Given the description of an element on the screen output the (x, y) to click on. 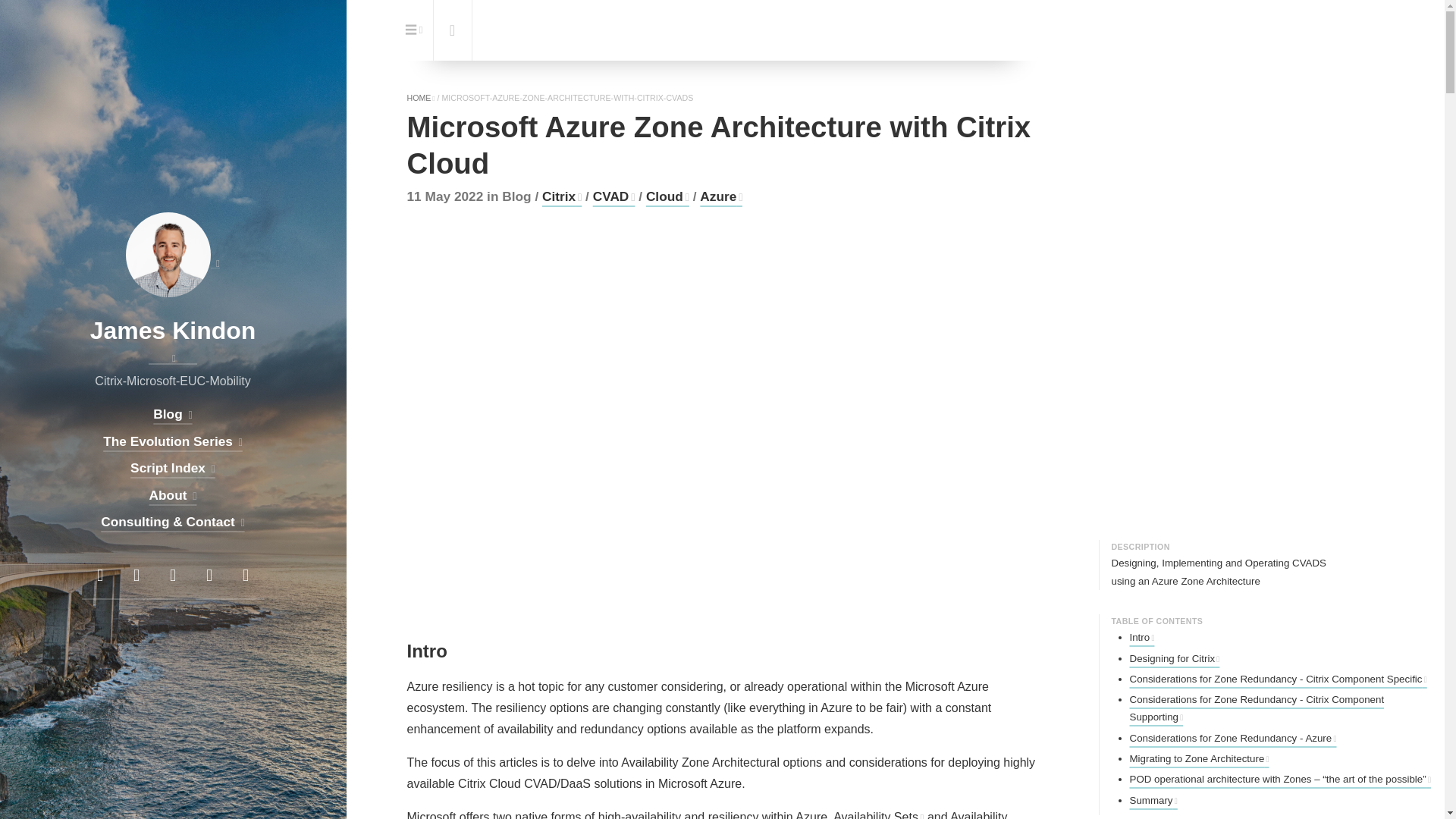
Availability Zones (706, 814)
Availability Sets (877, 814)
Summary (1153, 799)
CVAD (613, 196)
Intro (1141, 636)
Citrix (560, 196)
Azure (721, 196)
Considerations for Zone Redundancy - Azure (1232, 737)
HOME (419, 97)
Designing for Citrix (1174, 657)
Cloud (667, 196)
Migrating to Zone Architecture (1199, 758)
